Given the description of an element on the screen output the (x, y) to click on. 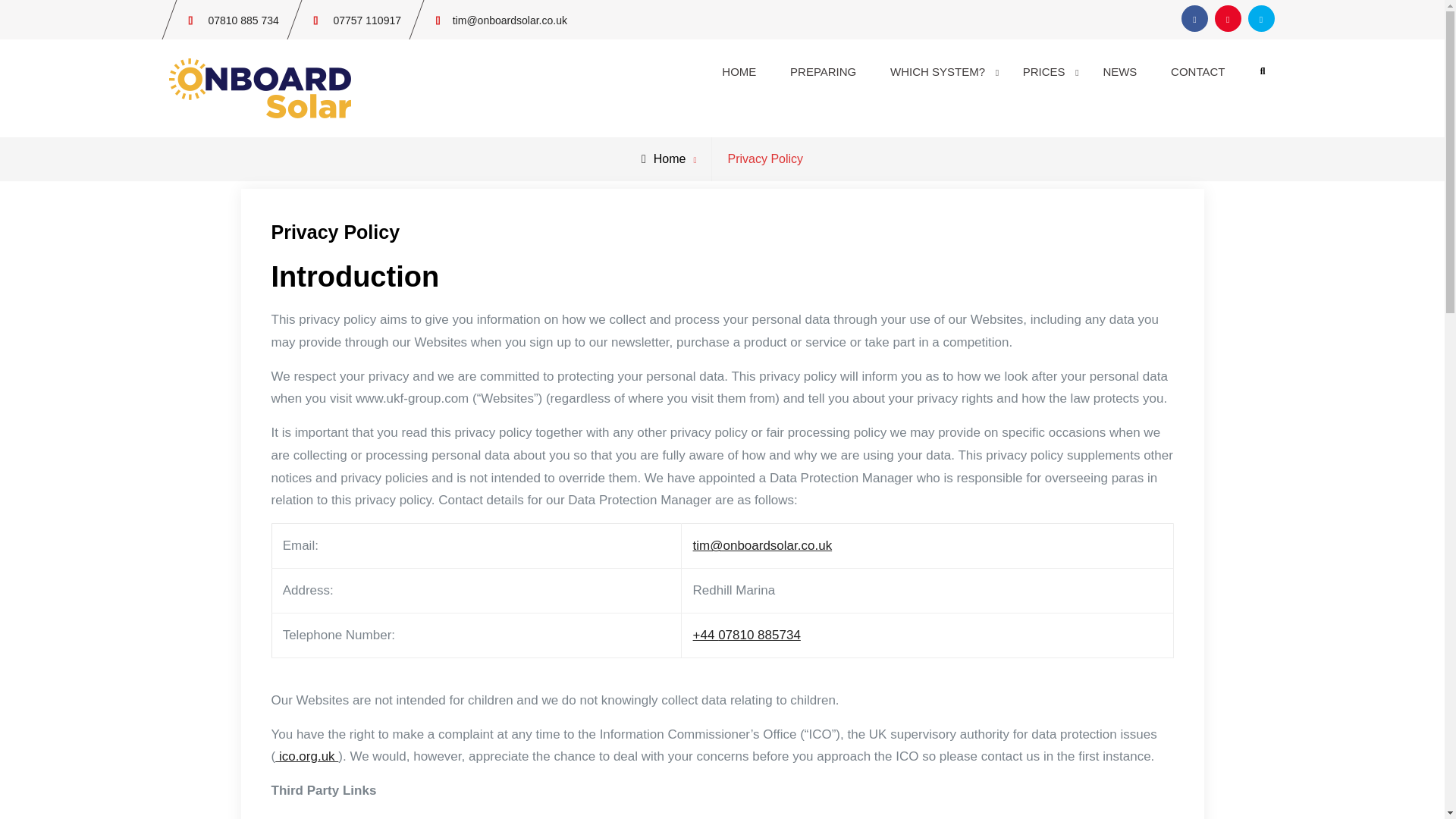
WHICH SYSTEM? (939, 71)
HOME (738, 71)
PRICES (1045, 71)
Onboard Solar (416, 81)
Facebook (1194, 17)
NEWS (1119, 71)
Instagram (1227, 17)
07757 110917 (367, 20)
PREPARING (822, 71)
Twitter (1261, 17)
